Given the description of an element on the screen output the (x, y) to click on. 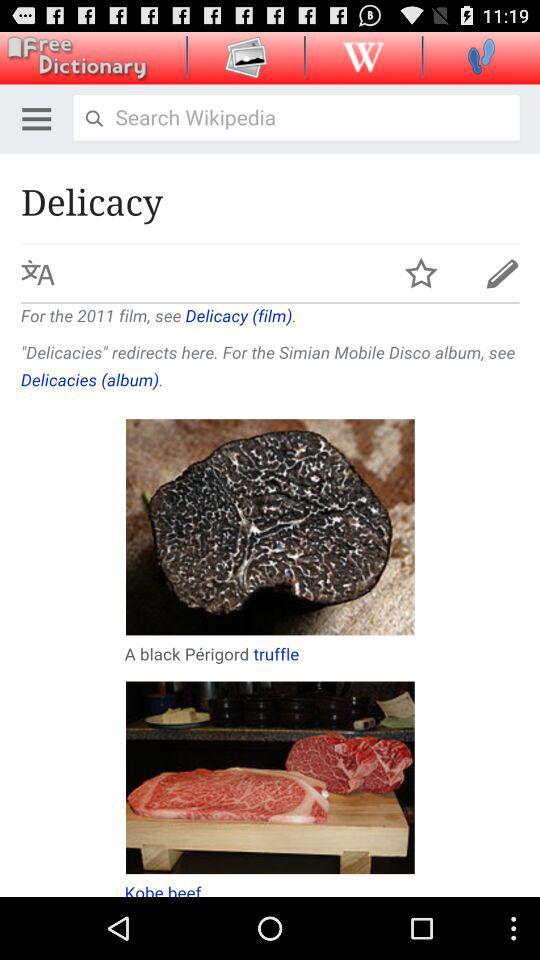
go to wikipedia (363, 56)
